Given the description of an element on the screen output the (x, y) to click on. 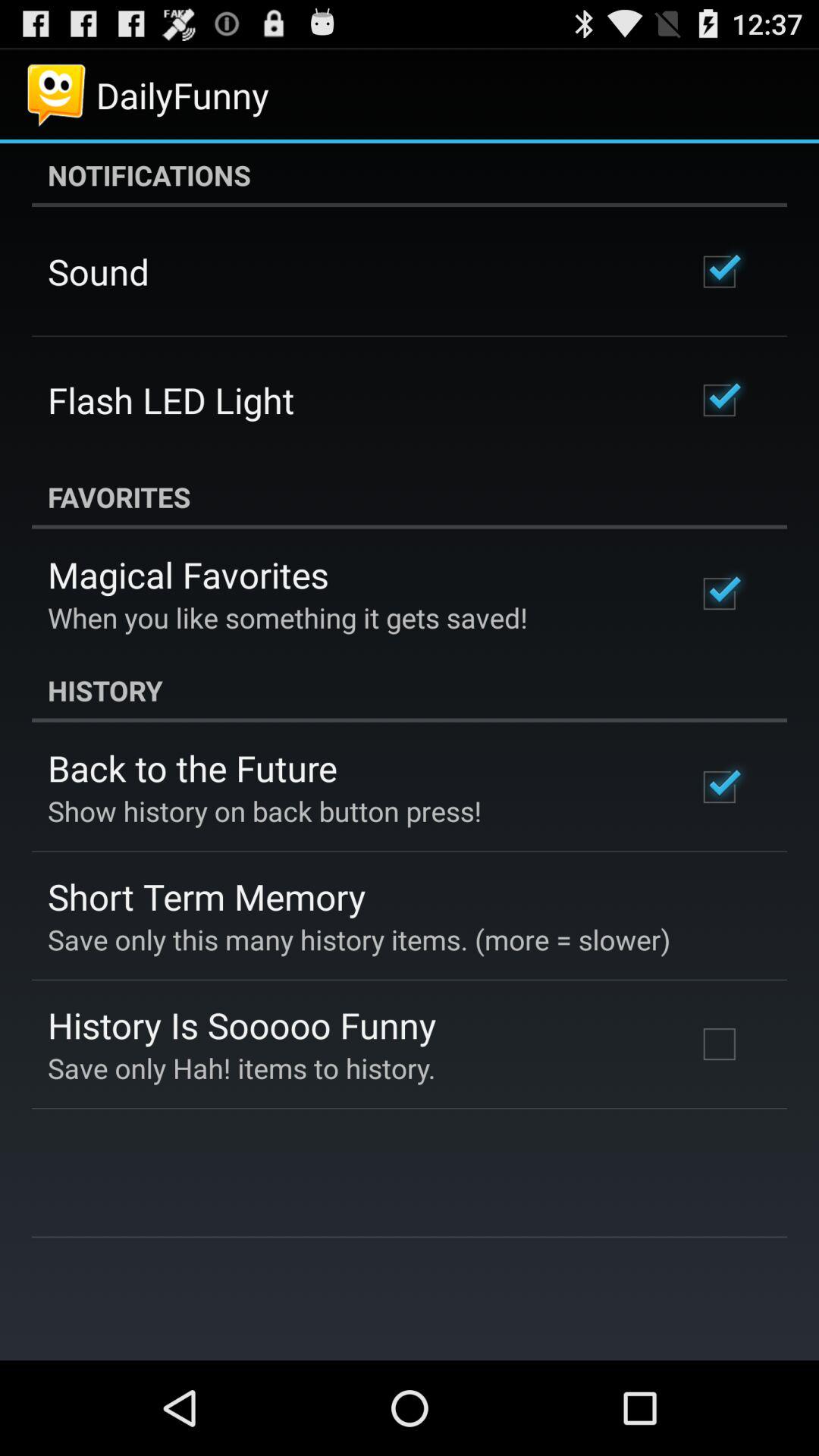
flip until the back to the app (192, 767)
